Given the description of an element on the screen output the (x, y) to click on. 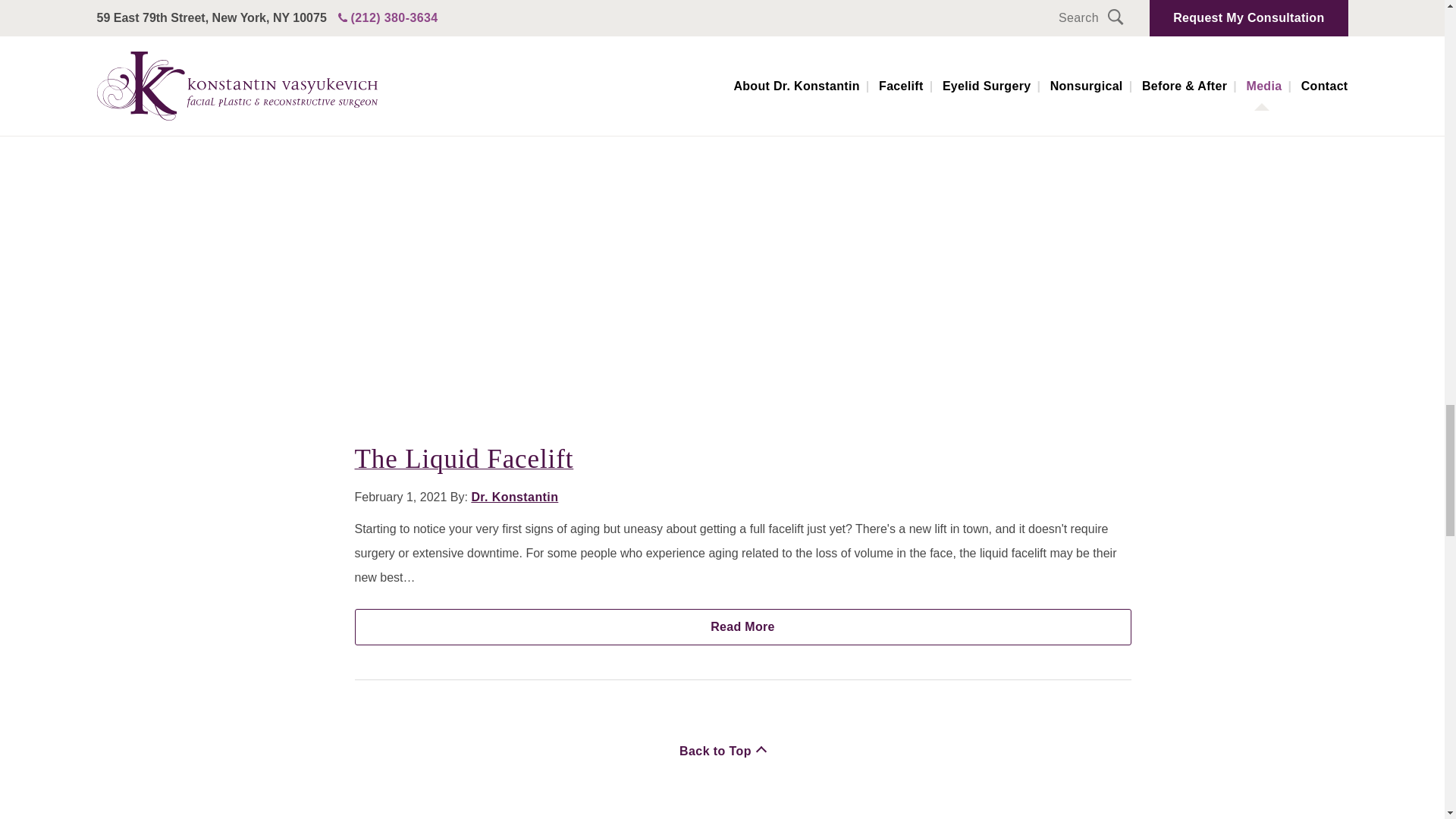
View all posts by Dr. Konstantin (513, 496)
The Liquid Facelift (464, 459)
The Liquid Facelift (743, 627)
